Given the description of an element on the screen output the (x, y) to click on. 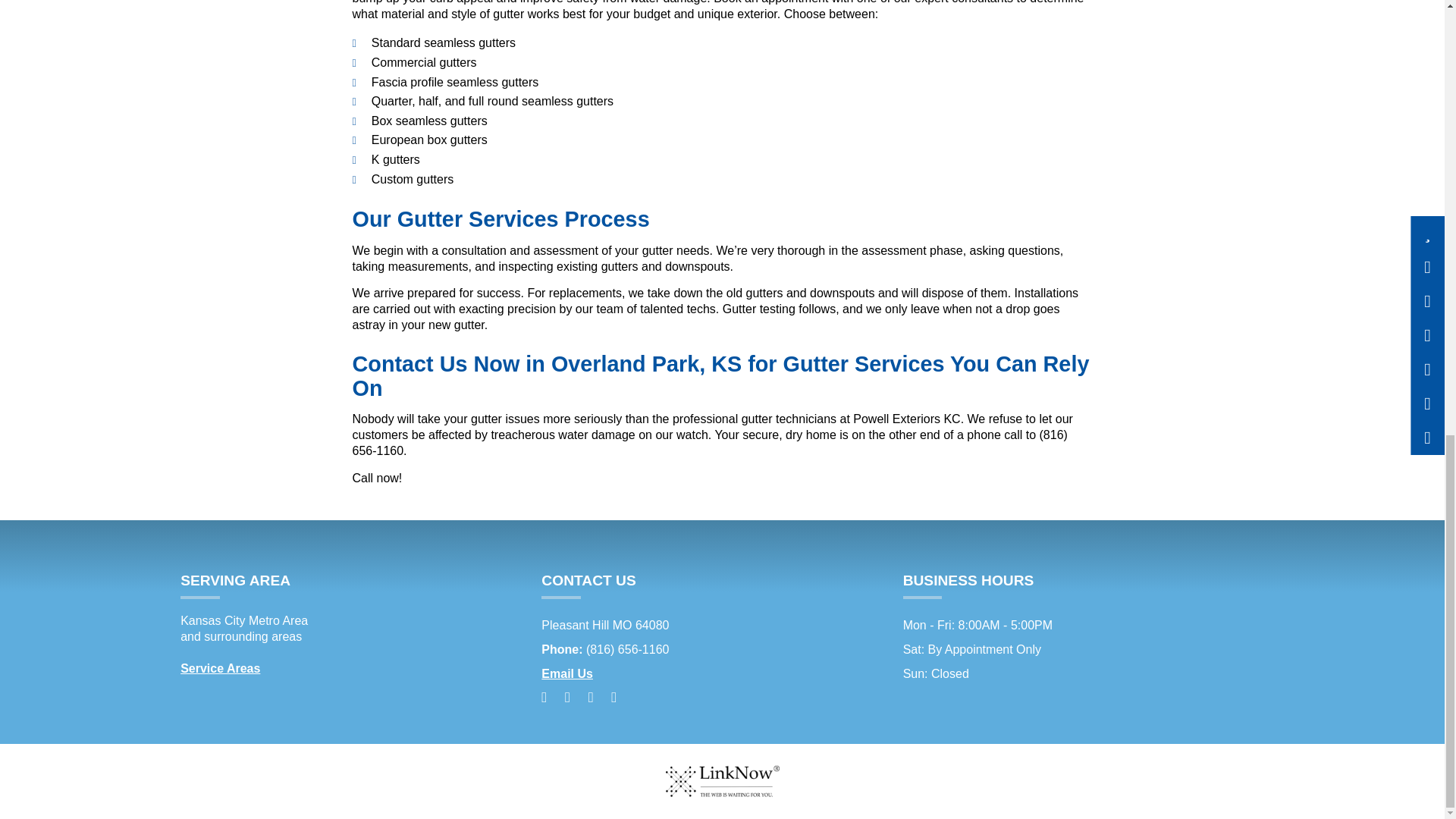
Email us today (566, 673)
Service Areas pages (220, 667)
